Given the description of an element on the screen output the (x, y) to click on. 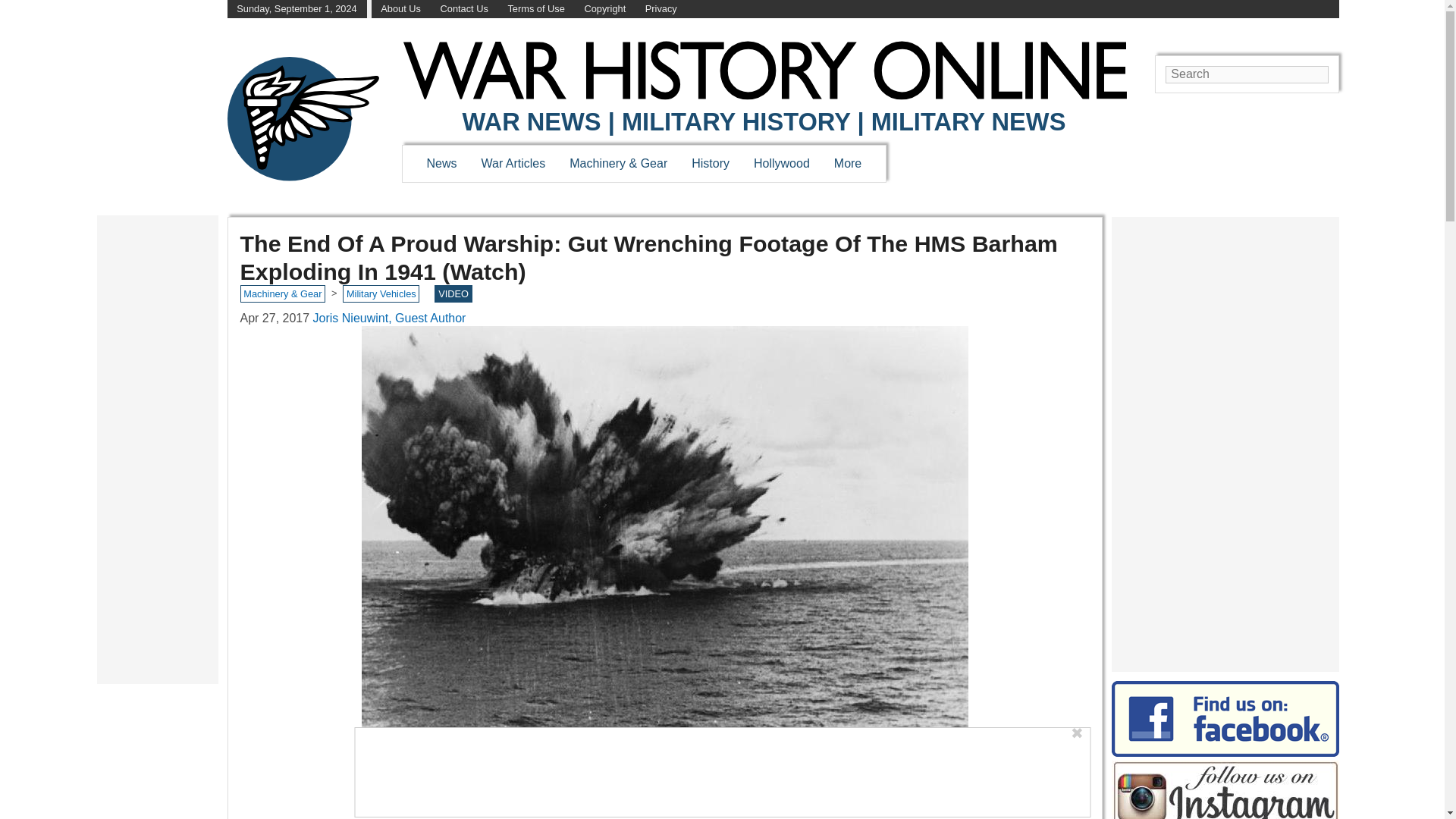
History (710, 163)
News (441, 163)
War Articles (513, 163)
Contact Us (464, 8)
About Us (400, 8)
More (847, 163)
Terms of Use (535, 8)
Hollywood (781, 163)
Privacy (661, 8)
Copyright (604, 8)
